Given the description of an element on the screen output the (x, y) to click on. 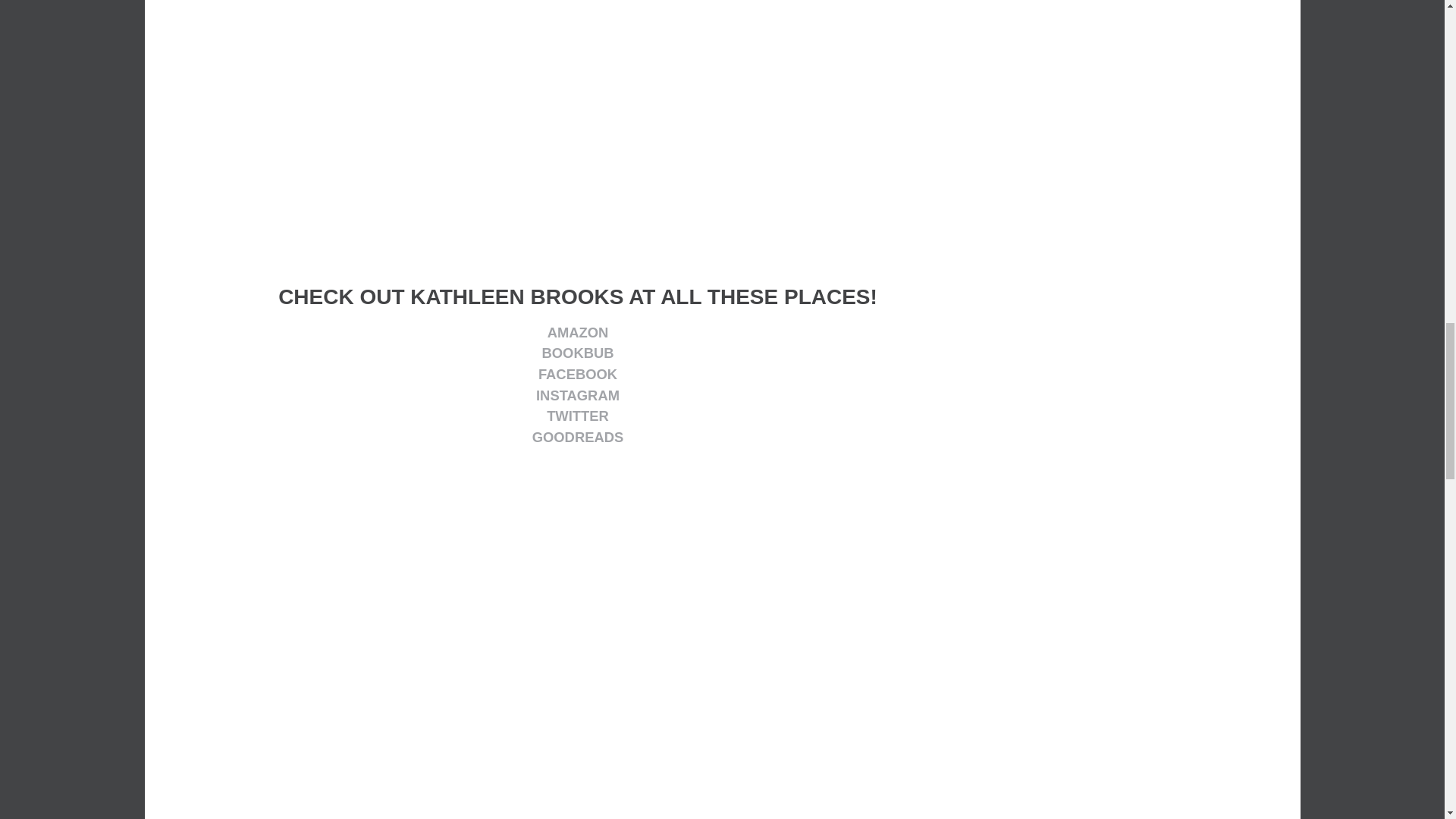
BOOKBUB (576, 352)
TWITTER (577, 415)
AMAZON (577, 332)
FACEBOOK (577, 374)
GOODREADS (578, 437)
INSTAGRAM (577, 395)
